Given the description of an element on the screen output the (x, y) to click on. 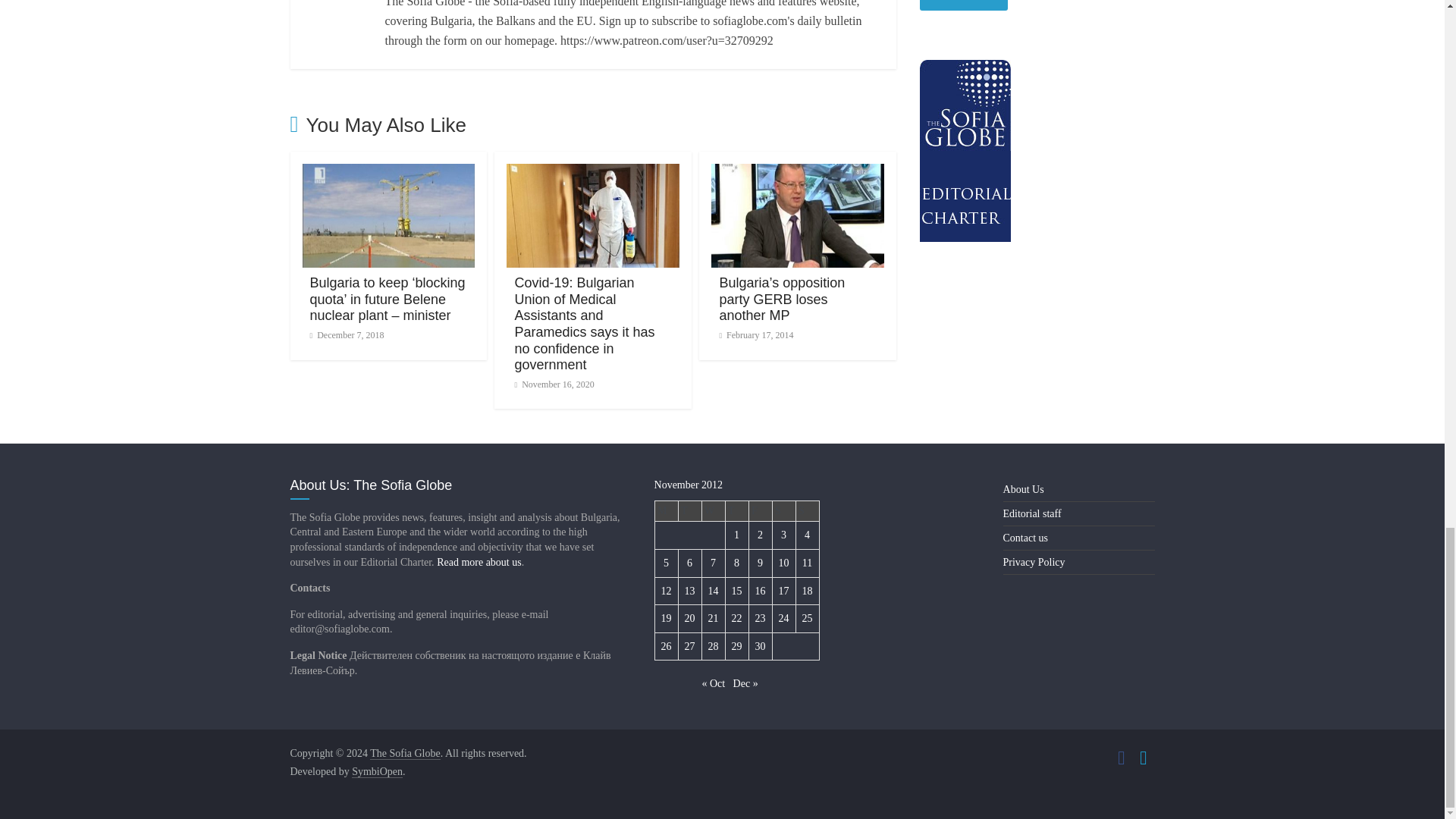
February 17, 2014 (756, 335)
1:00 PM (553, 384)
Subscribe! (962, 5)
November 16, 2020 (553, 384)
5:24 PM (346, 335)
December 7, 2018 (346, 335)
